Given the description of an element on the screen output the (x, y) to click on. 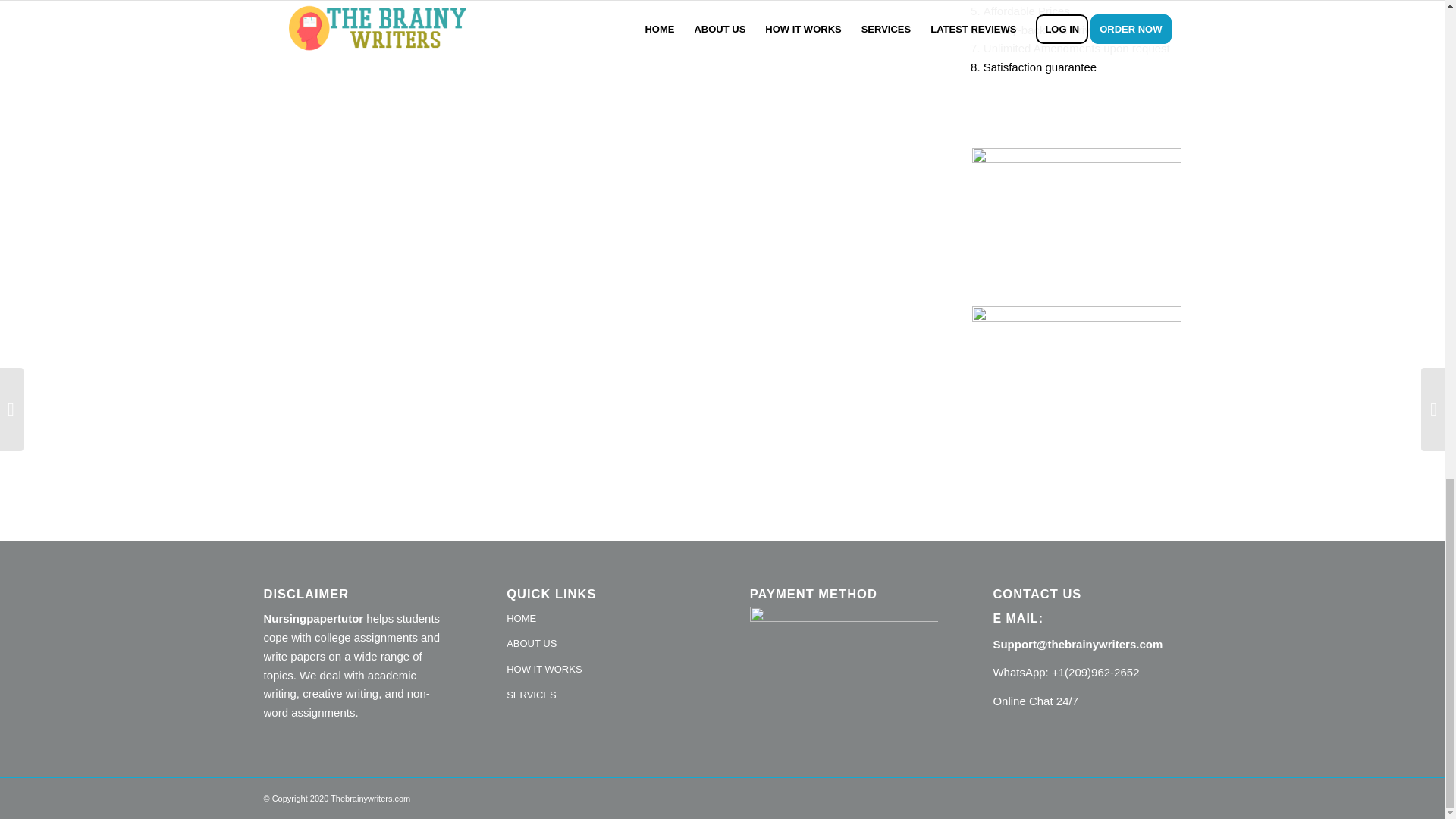
HOW IT WORKS (600, 670)
HOME (600, 619)
ABOUT US (600, 644)
SERVICES (600, 696)
